Given the description of an element on the screen output the (x, y) to click on. 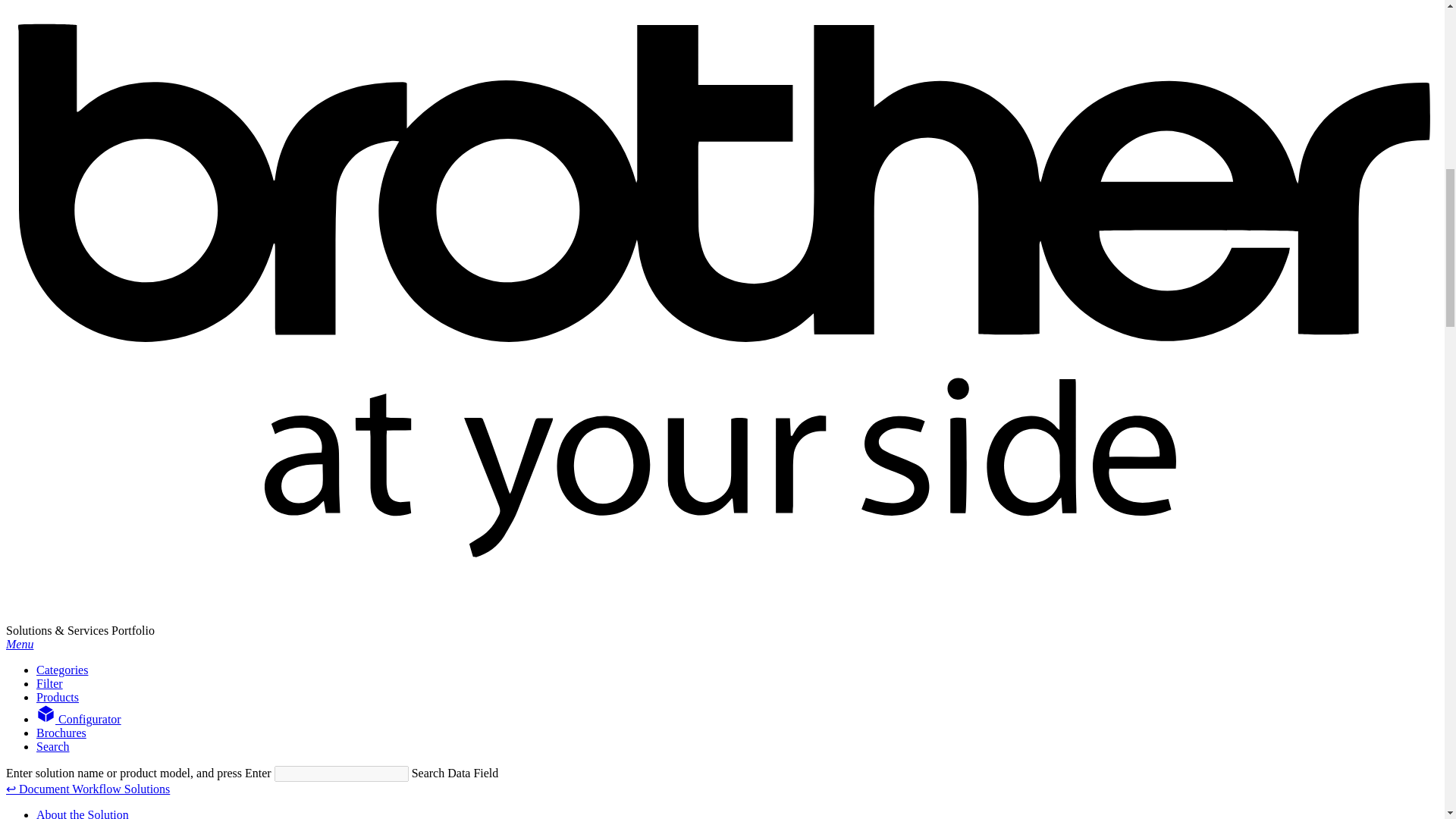
Filter (49, 683)
Configurator (78, 718)
Menu (19, 644)
Search (52, 746)
Brochures (60, 732)
About the Solution (82, 813)
Products (57, 697)
About the Solution (82, 813)
Categories (61, 669)
